Given the description of an element on the screen output the (x, y) to click on. 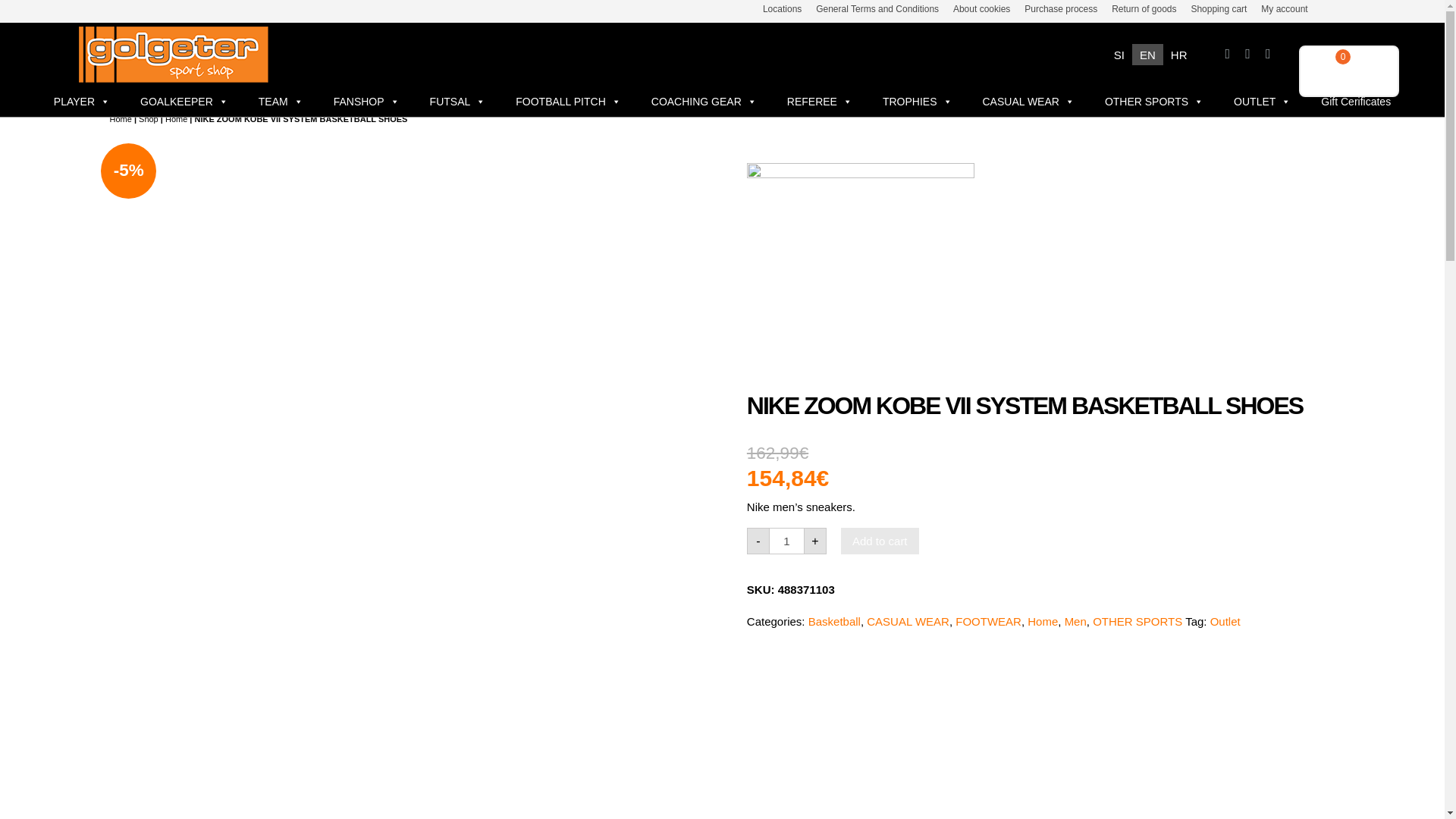
Nike (860, 276)
Purchase process (1061, 9)
Locations (782, 9)
1 (786, 540)
General Terms and Conditions (877, 9)
Qty (786, 540)
Shopping cart (1218, 9)
About cookies (981, 9)
Return of goods (1144, 9)
My account (1283, 9)
